Given the description of an element on the screen output the (x, y) to click on. 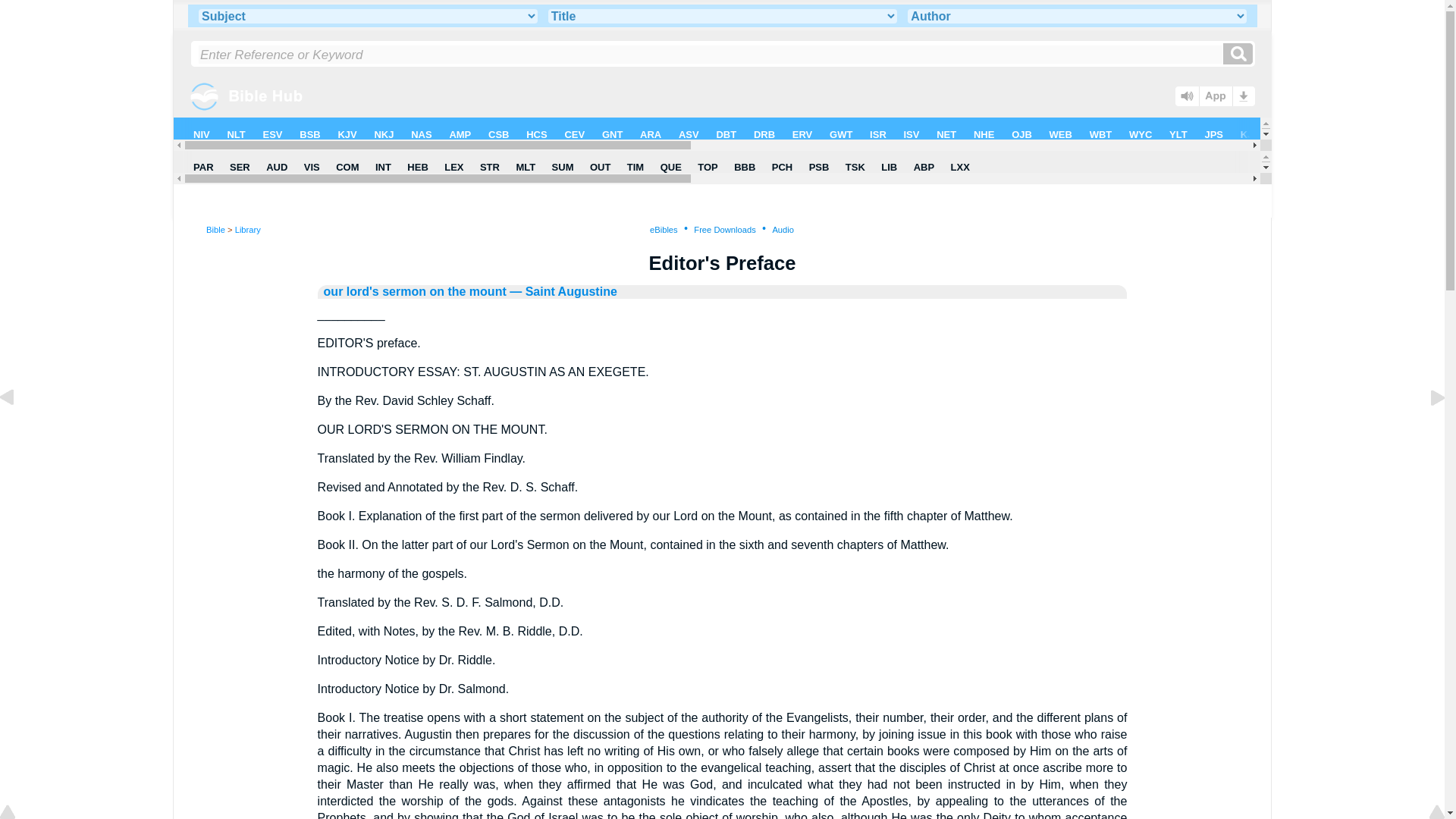
Bible (215, 229)
Library (247, 229)
title page (18, 431)
Top of Page (18, 813)
our lord's sermon on the mount (414, 291)
